Given the description of an element on the screen output the (x, y) to click on. 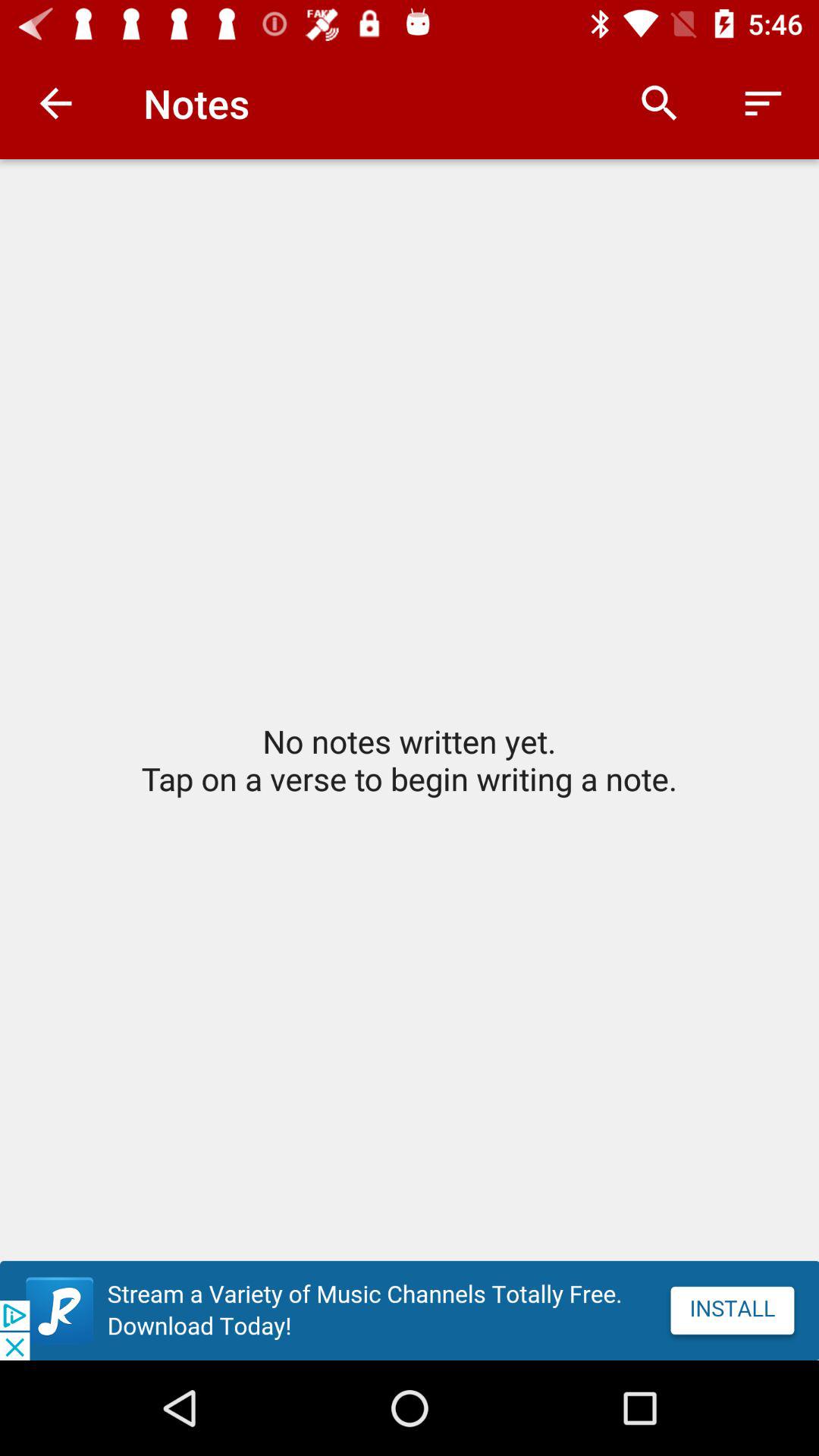
advertisement (409, 1310)
